Given the description of an element on the screen output the (x, y) to click on. 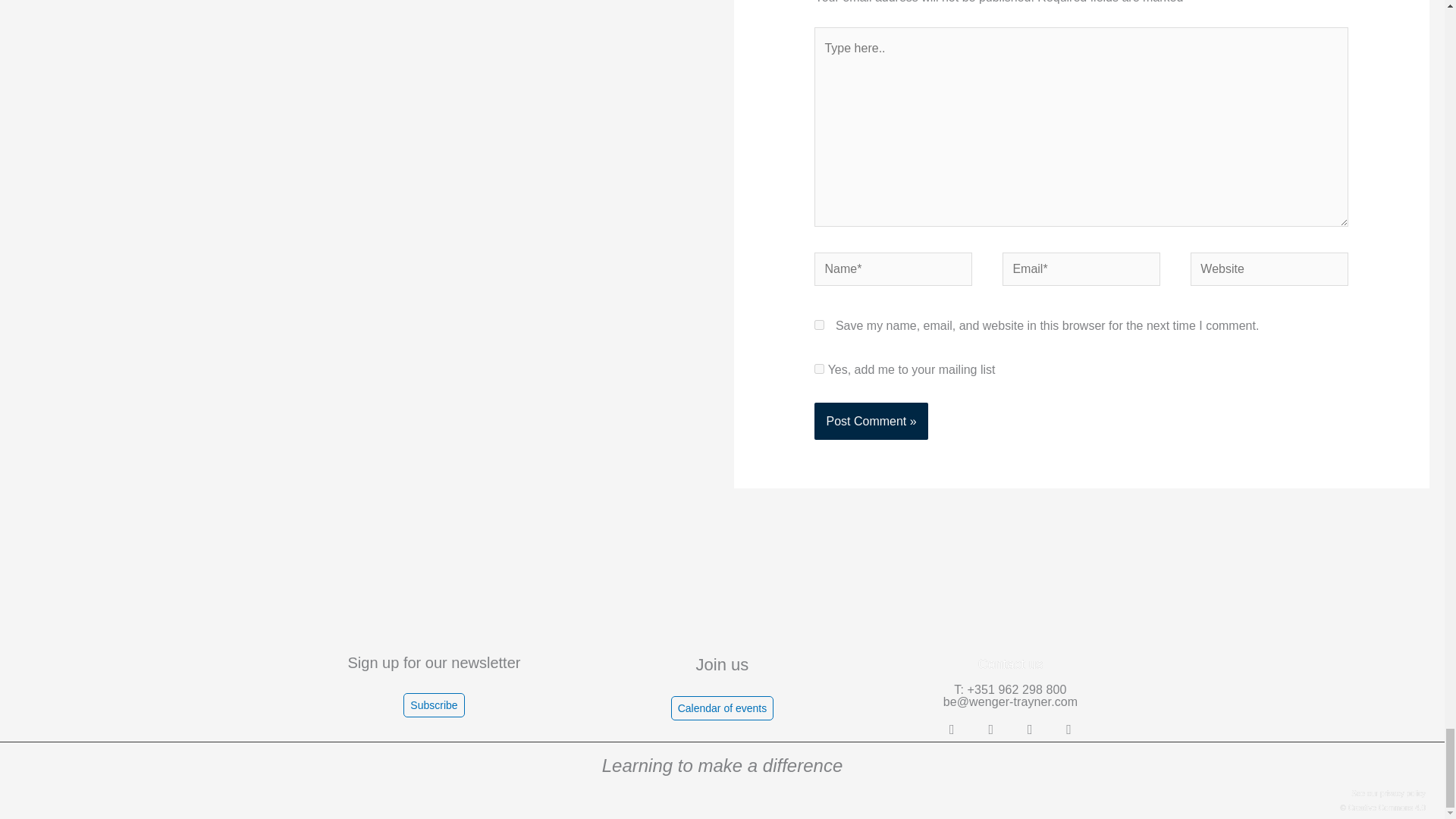
yes (818, 325)
1 (818, 368)
